Given the description of an element on the screen output the (x, y) to click on. 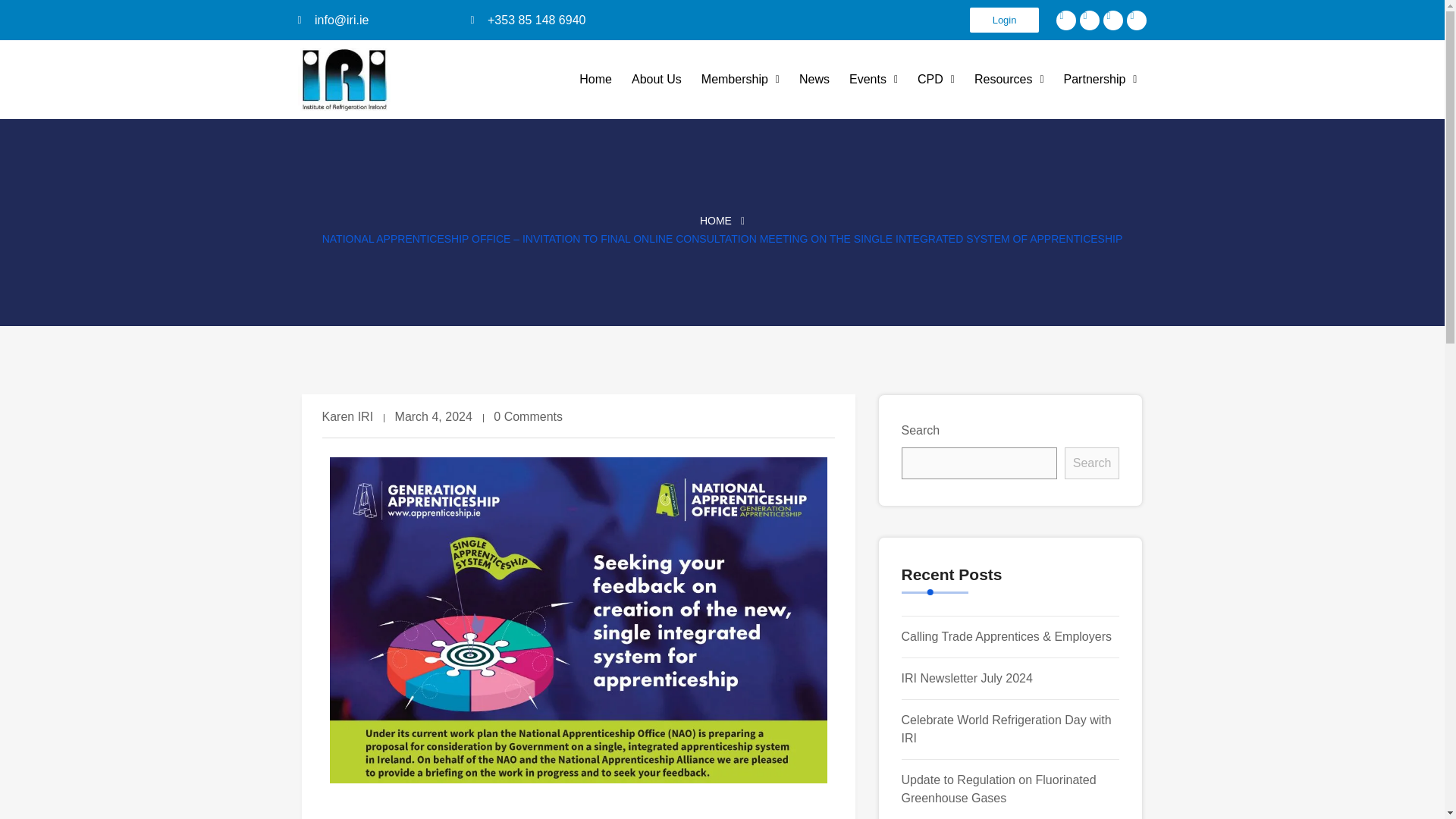
CPD (935, 79)
Login (1004, 19)
About Us (656, 79)
Home (595, 79)
Membership (740, 79)
News (814, 79)
Events (873, 79)
